Given the description of an element on the screen output the (x, y) to click on. 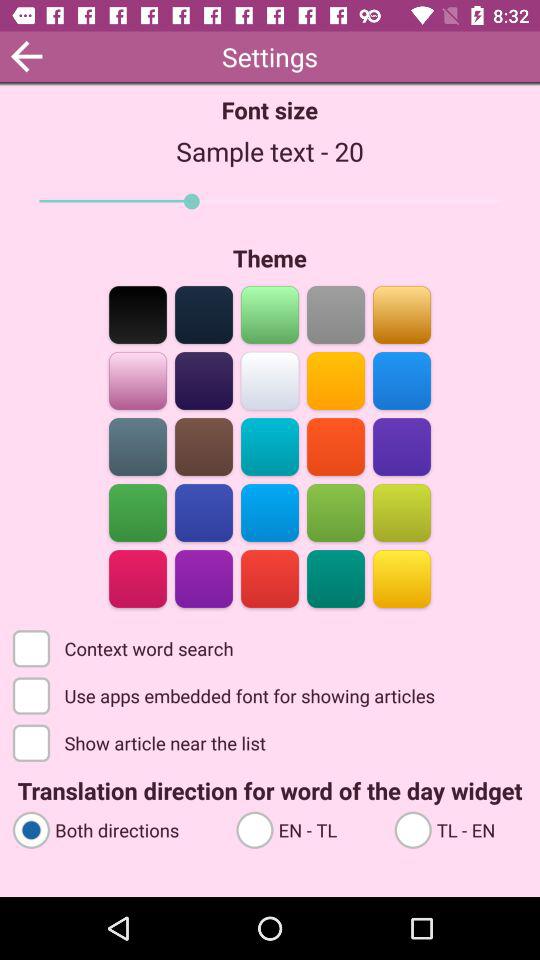
choose the item below the context word search item (225, 694)
